Given the description of an element on the screen output the (x, y) to click on. 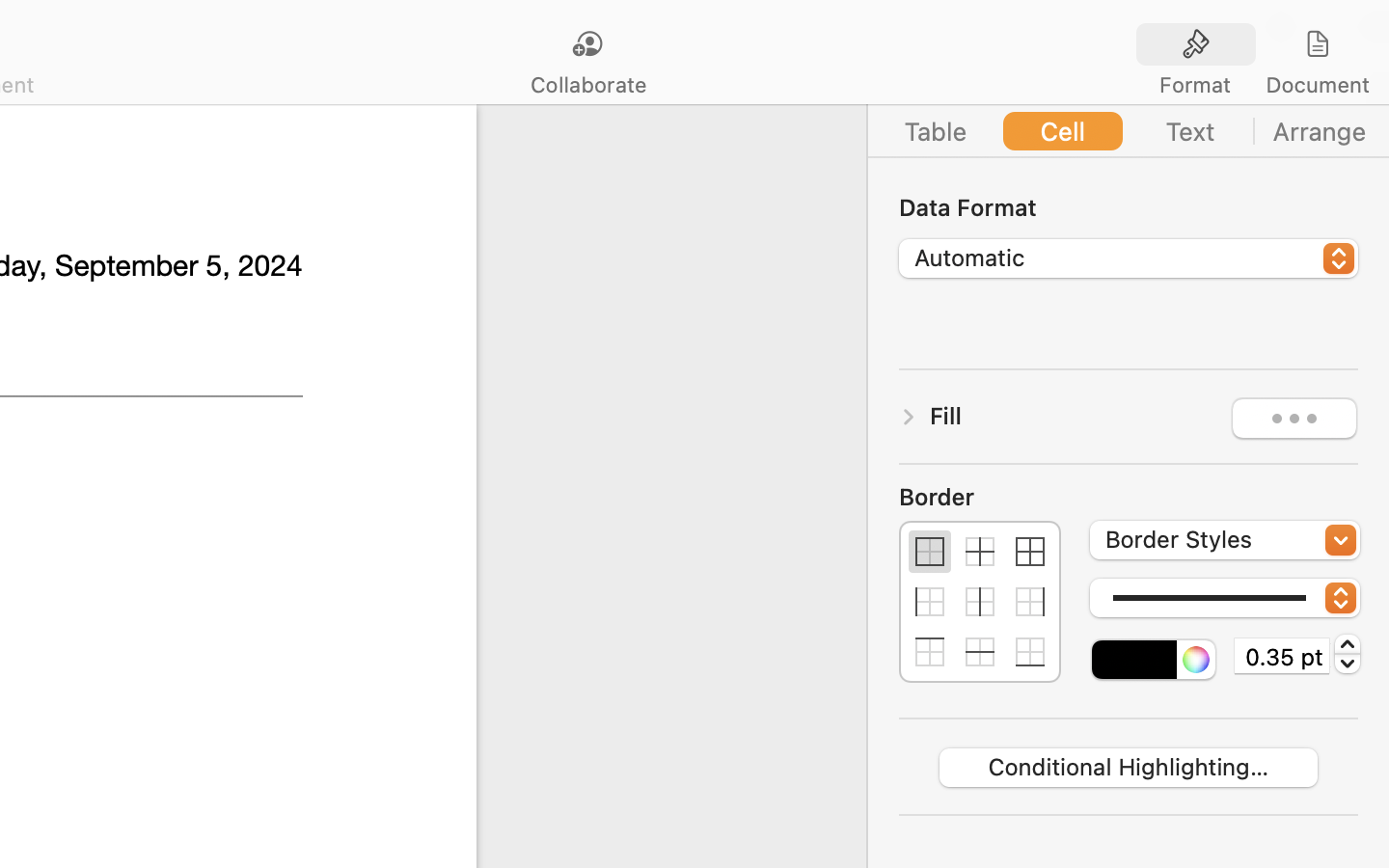
<AXUIElement 0x17c83a870> {pid=1482} Element type: AXGroup (1256, 45)
<AXUIElement 0x17fd06aa0> {pid=1482} Element type: AXRadioGroup (1128, 131)
Automatic Element type: AXPopUpButton (1129, 261)
